Given the description of an element on the screen output the (x, y) to click on. 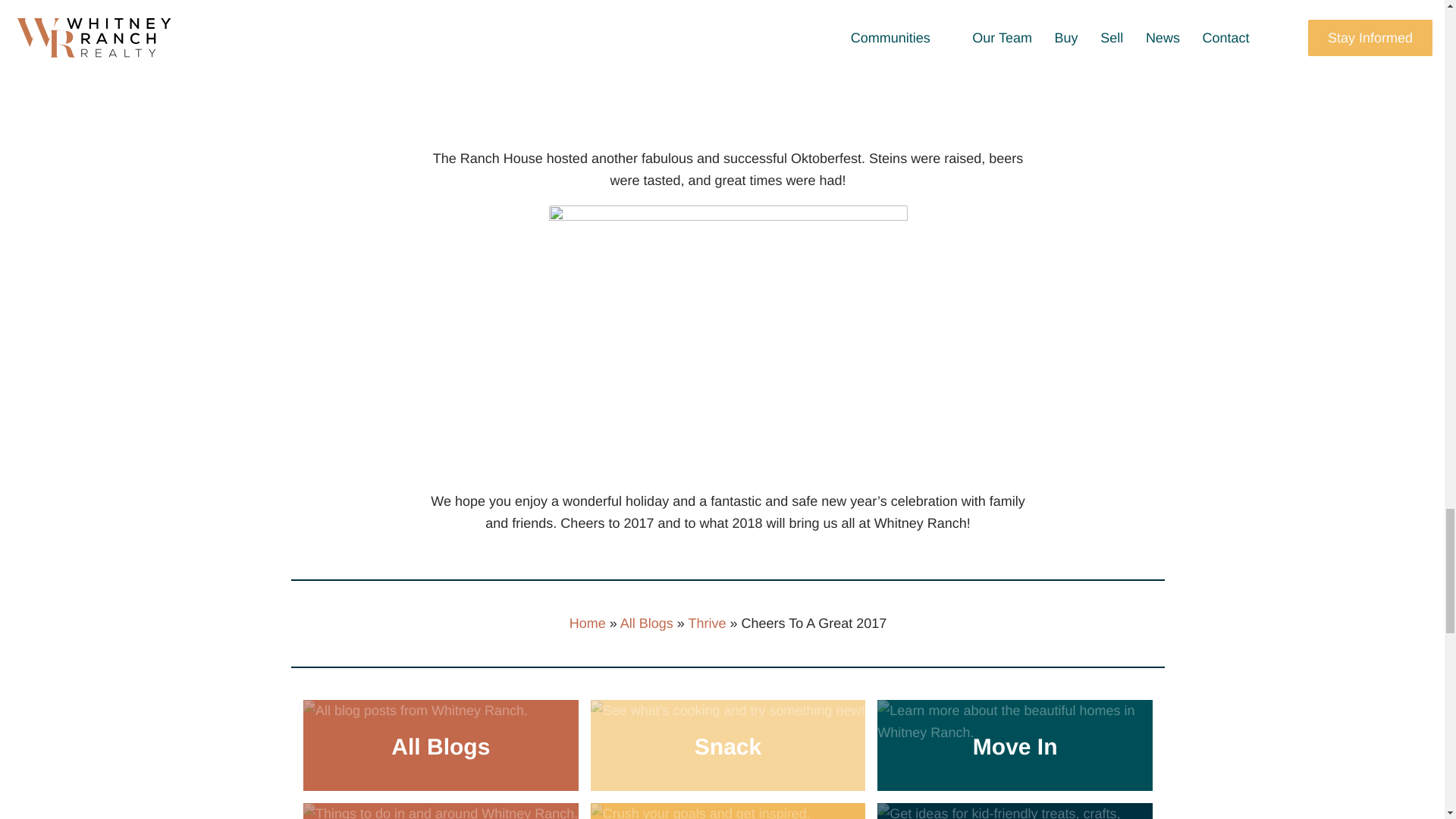
All Blogs (646, 622)
Home (587, 622)
Thrive (706, 622)
